Given the description of an element on the screen output the (x, y) to click on. 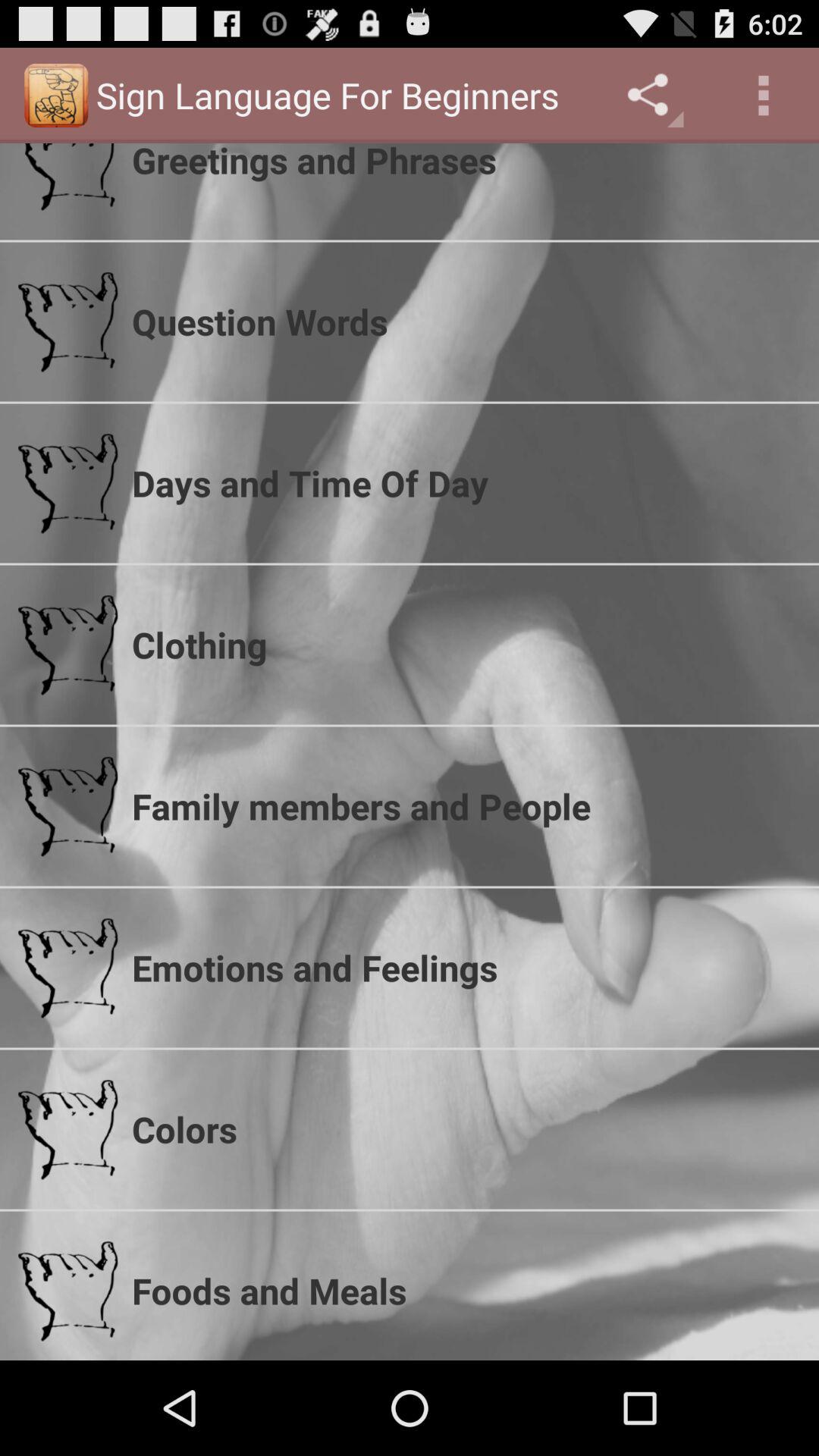
tap app above emotions and feelings (465, 806)
